Given the description of an element on the screen output the (x, y) to click on. 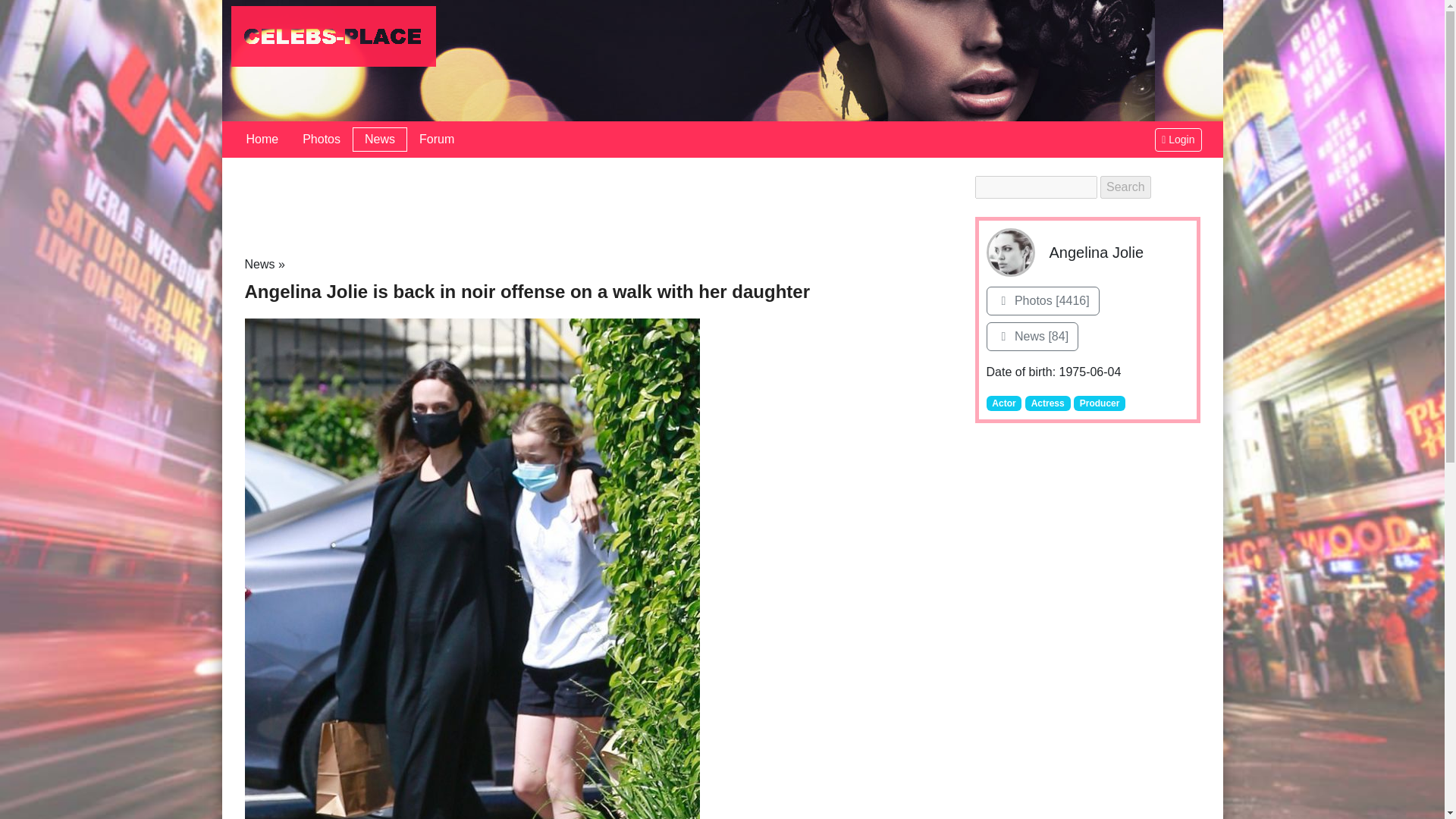
Advertisement (600, 210)
Photos (320, 139)
News (259, 264)
Search (1125, 187)
Search (1125, 187)
News (379, 139)
Home (260, 139)
Forum (436, 139)
Login (1177, 138)
Advertisement (1086, 586)
